Given the description of an element on the screen output the (x, y) to click on. 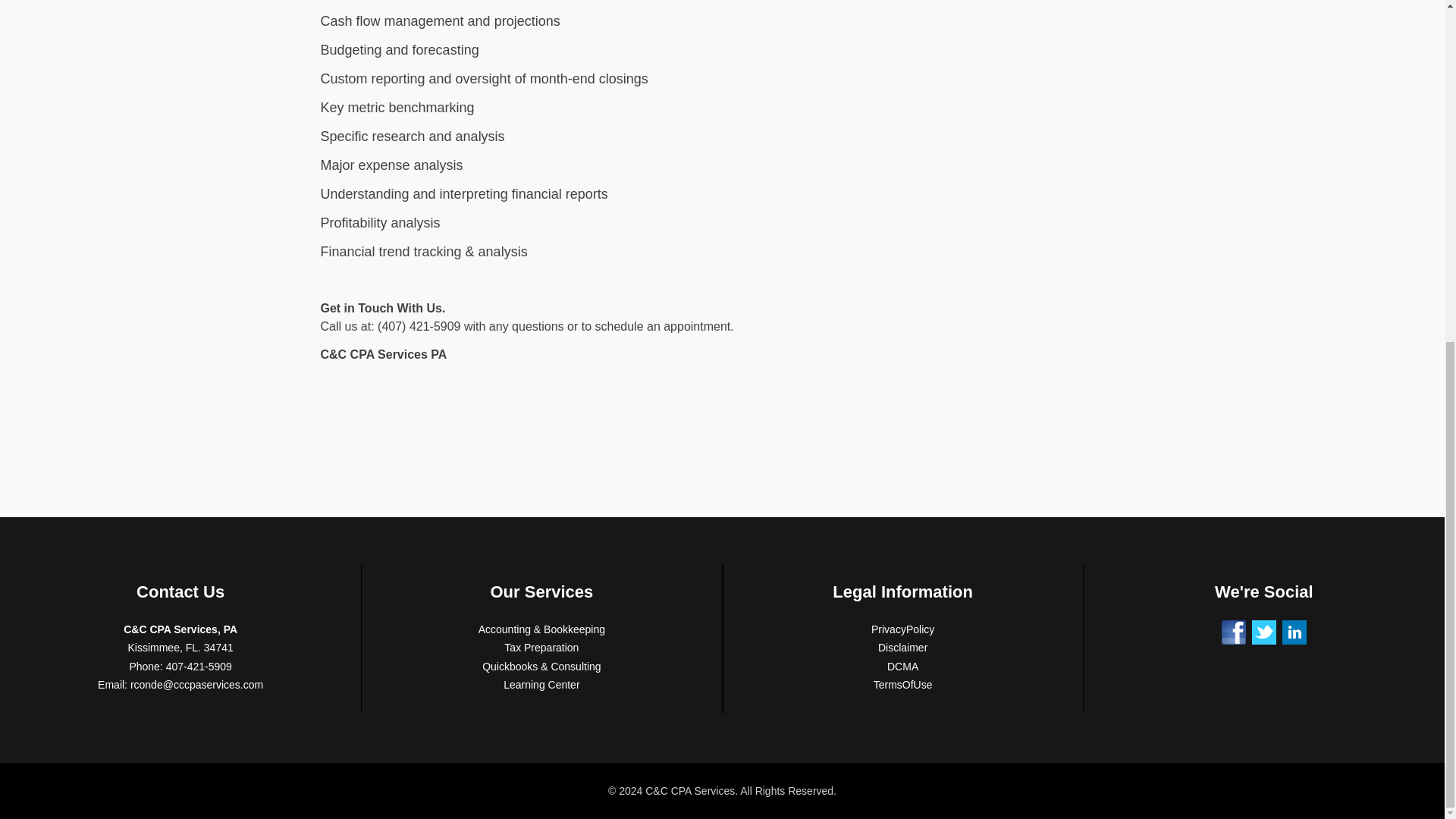
Disclaimer (902, 647)
Learning Center (541, 684)
PrivacyPolicy (902, 629)
Tax Preparation (540, 647)
DCMA (902, 666)
TermsOfUse (903, 684)
